Given the description of an element on the screen output the (x, y) to click on. 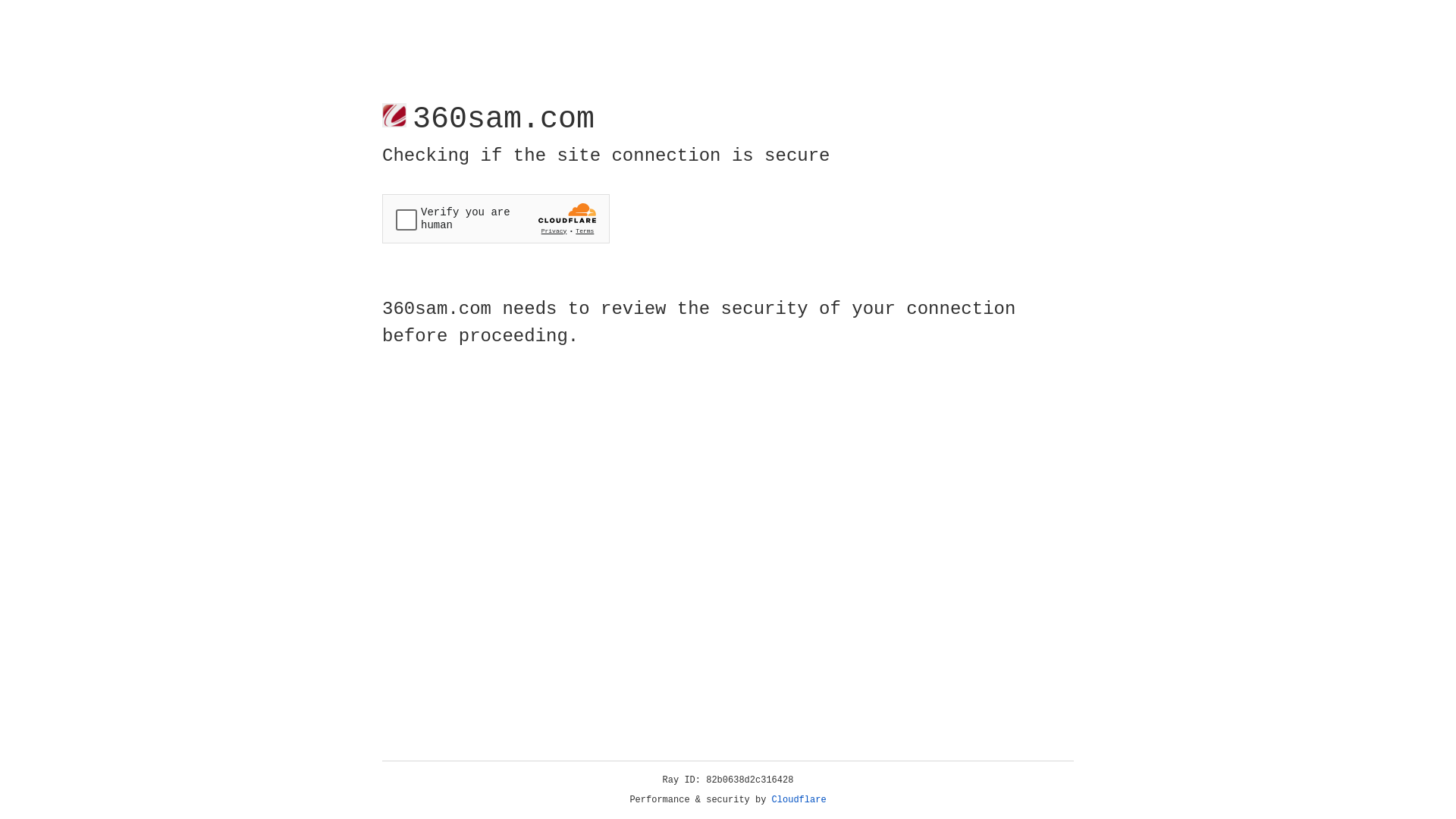
Cloudflare Element type: text (798, 799)
Widget containing a Cloudflare security challenge Element type: hover (495, 218)
